Given the description of an element on the screen output the (x, y) to click on. 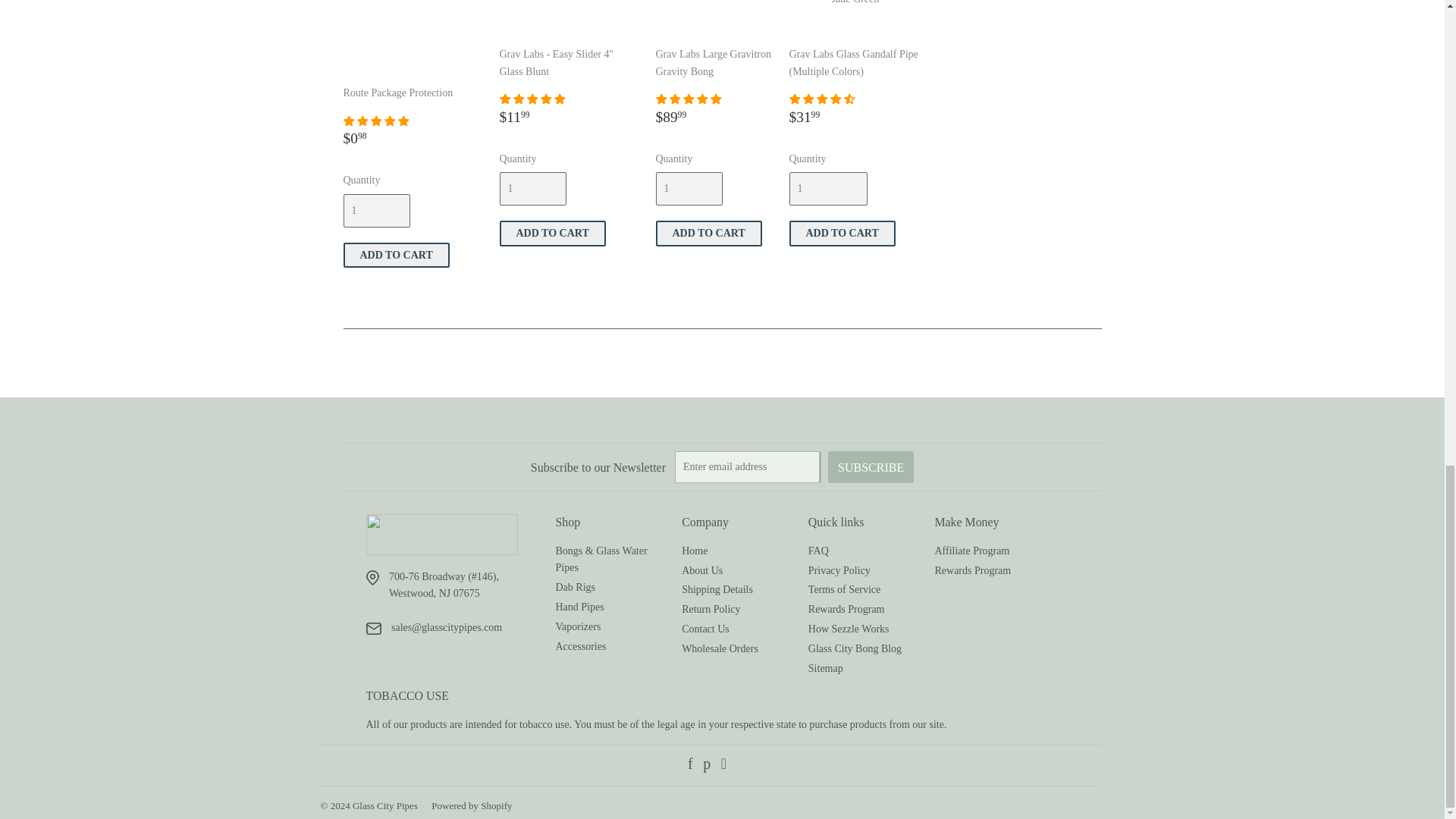
1 (375, 210)
1 (688, 188)
1 (532, 188)
1 (827, 188)
